Given the description of an element on the screen output the (x, y) to click on. 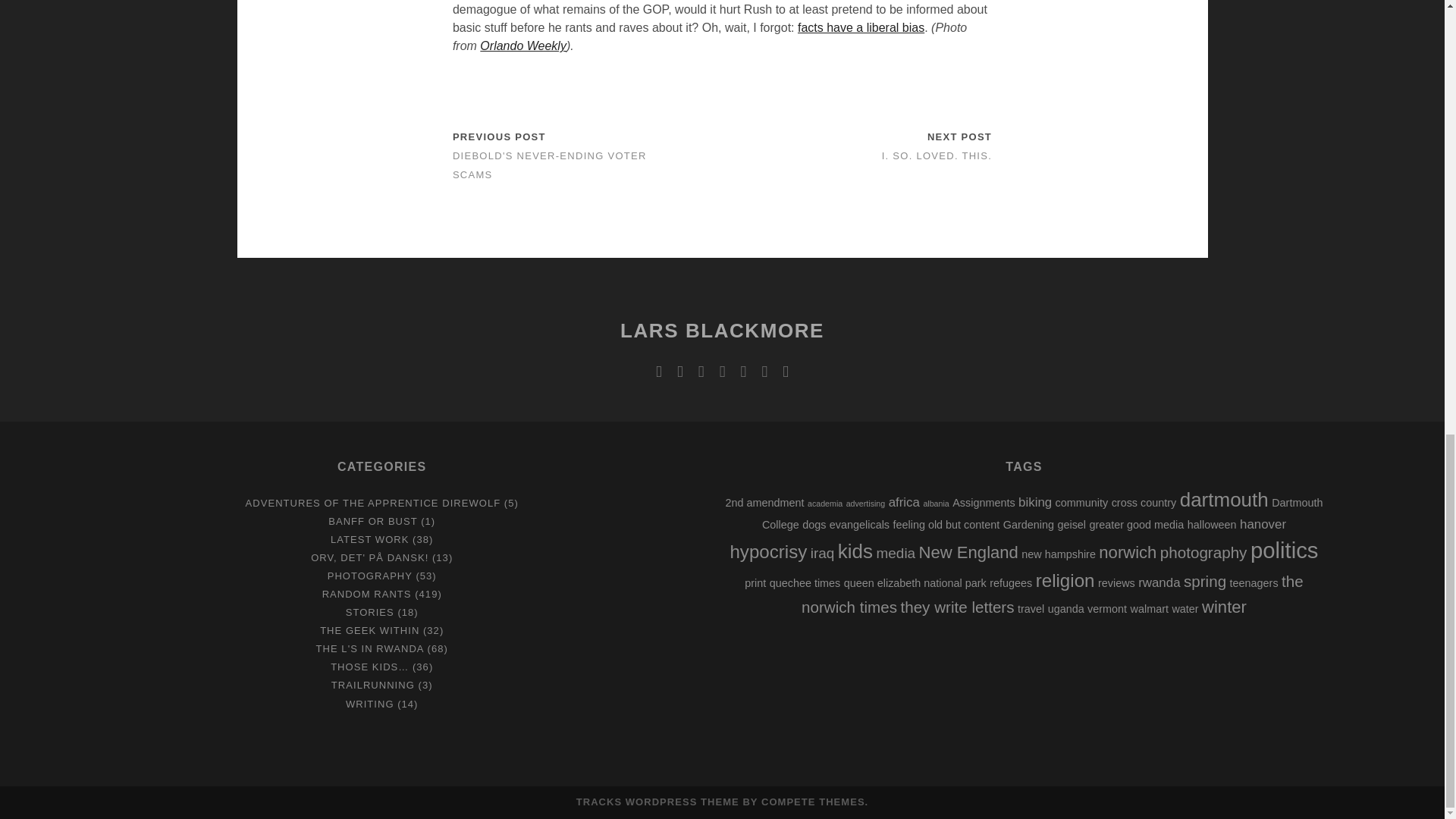
THE GEEK WITHIN (369, 630)
DIEBOLD'S NEVER-ENDING VOTER SCAMS (549, 164)
STORIES (370, 612)
THE L'S IN RWANDA (369, 648)
Orlando Weekly (523, 45)
LARS BLACKMORE (722, 330)
RANDOM RANTS (366, 593)
TRAILRUNNING (372, 685)
PHOTOGRAPHY (369, 575)
facts have a liberal bias (860, 27)
